Given the description of an element on the screen output the (x, y) to click on. 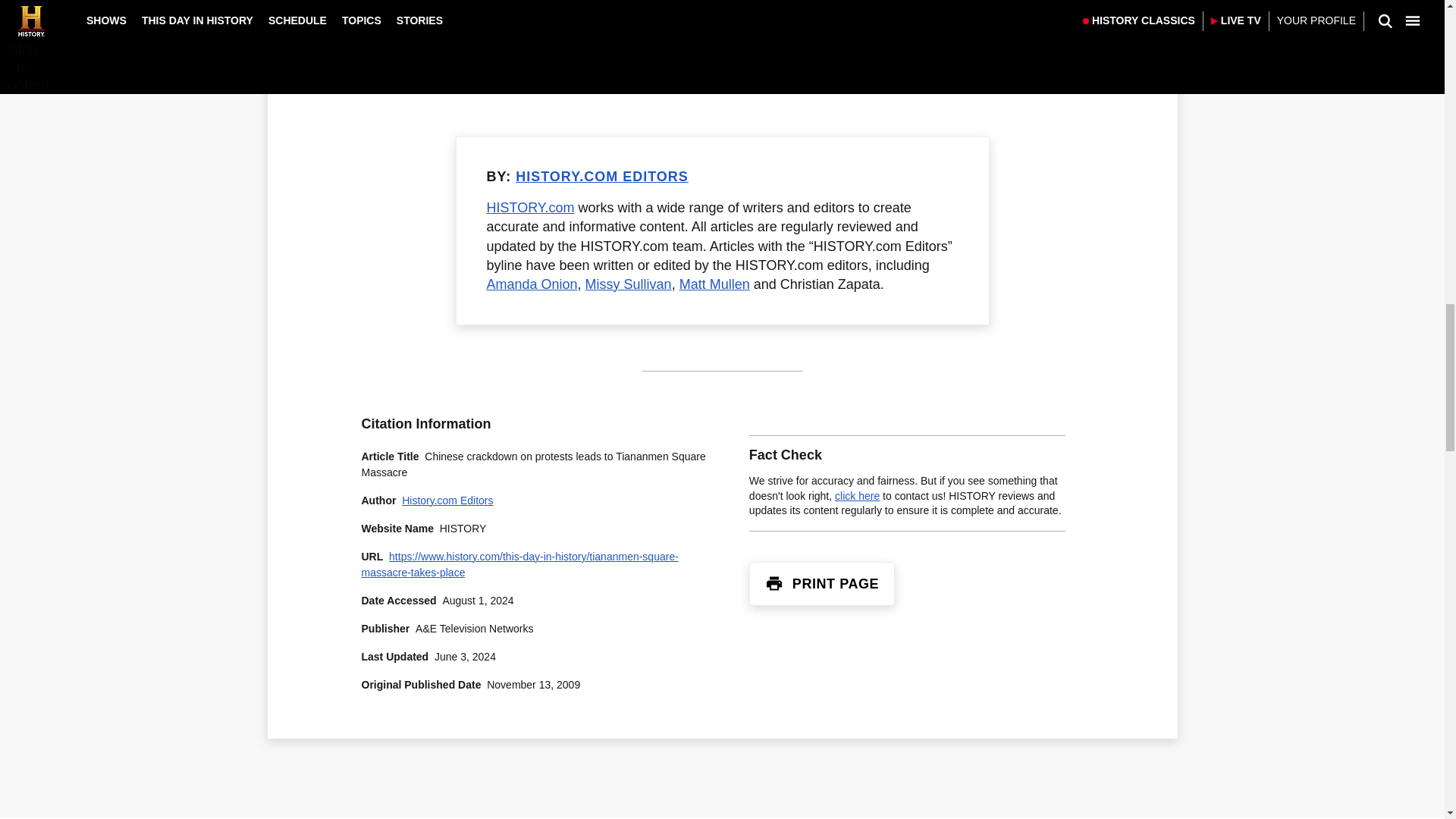
Print (774, 583)
